Given the description of an element on the screen output the (x, y) to click on. 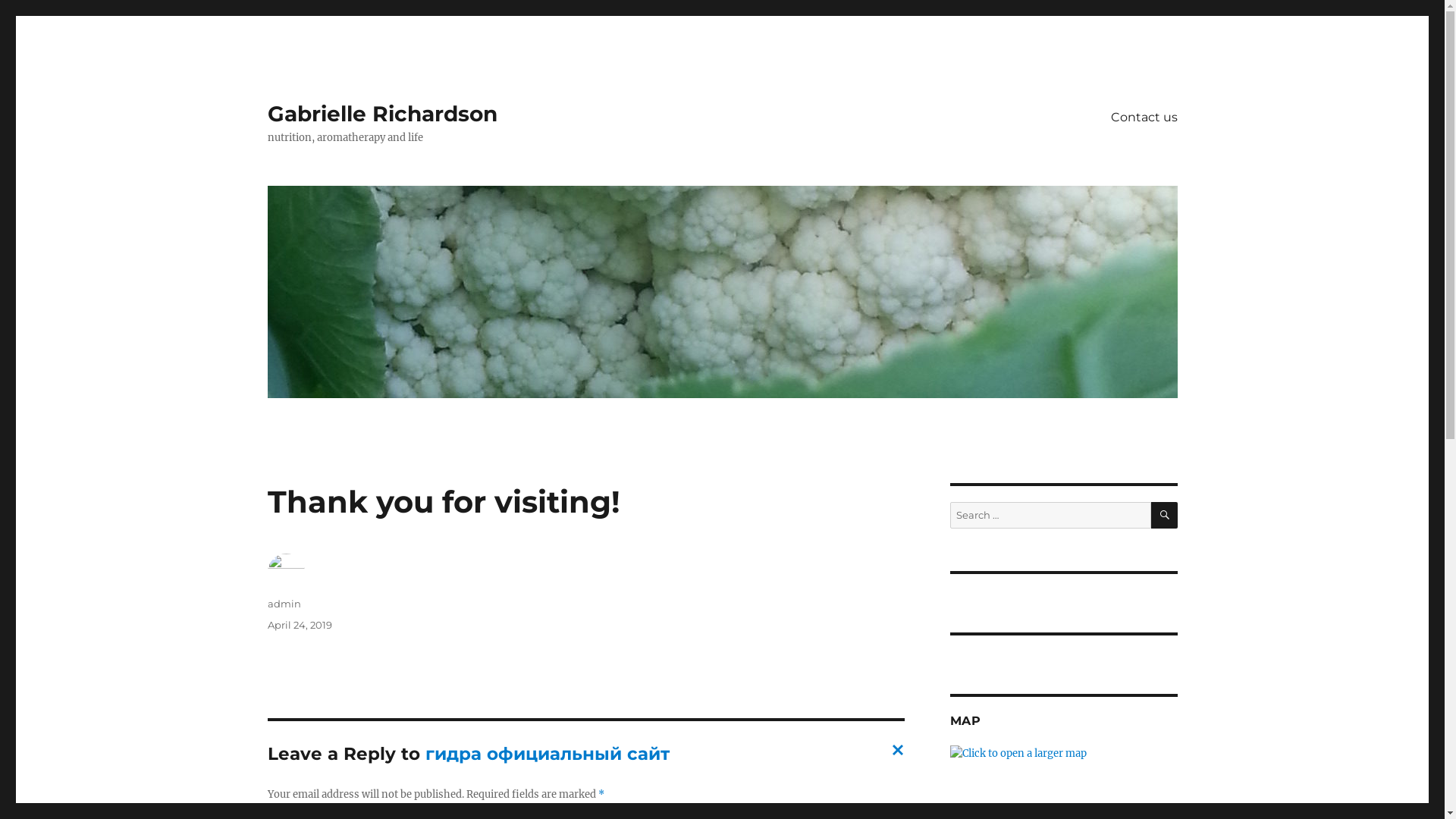
Contact us Element type: text (1143, 116)
April 24, 2019 Element type: text (298, 624)
admin Element type: text (283, 603)
Gabrielle Richardson Element type: text (381, 113)
Cancel reply Element type: text (893, 754)
SEARCH Element type: text (1164, 515)
Click to open a larger map Element type: hover (1017, 752)
Click to open a larger map Element type: hover (1017, 753)
